Given the description of an element on the screen output the (x, y) to click on. 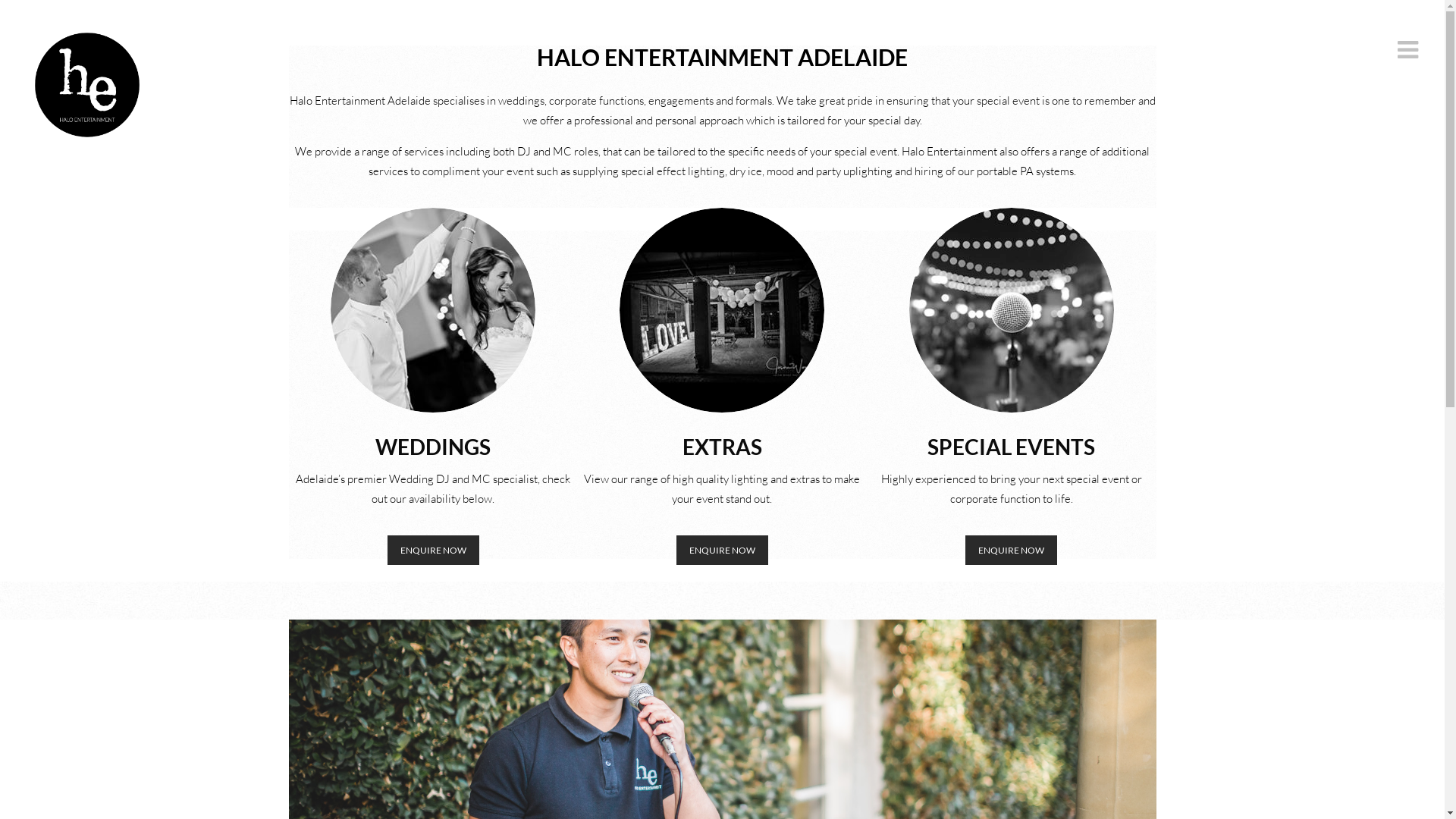
ENQUIRE NOW Element type: text (433, 549)
ENQUIRE NOW Element type: text (1011, 549)
ENQUIRE NOW Element type: text (722, 549)
LOVE NEW Element type: hover (721, 309)
BW MIc Test Element type: hover (1011, 309)
TEST WEDDING Element type: hover (432, 309)
